Given the description of an element on the screen output the (x, y) to click on. 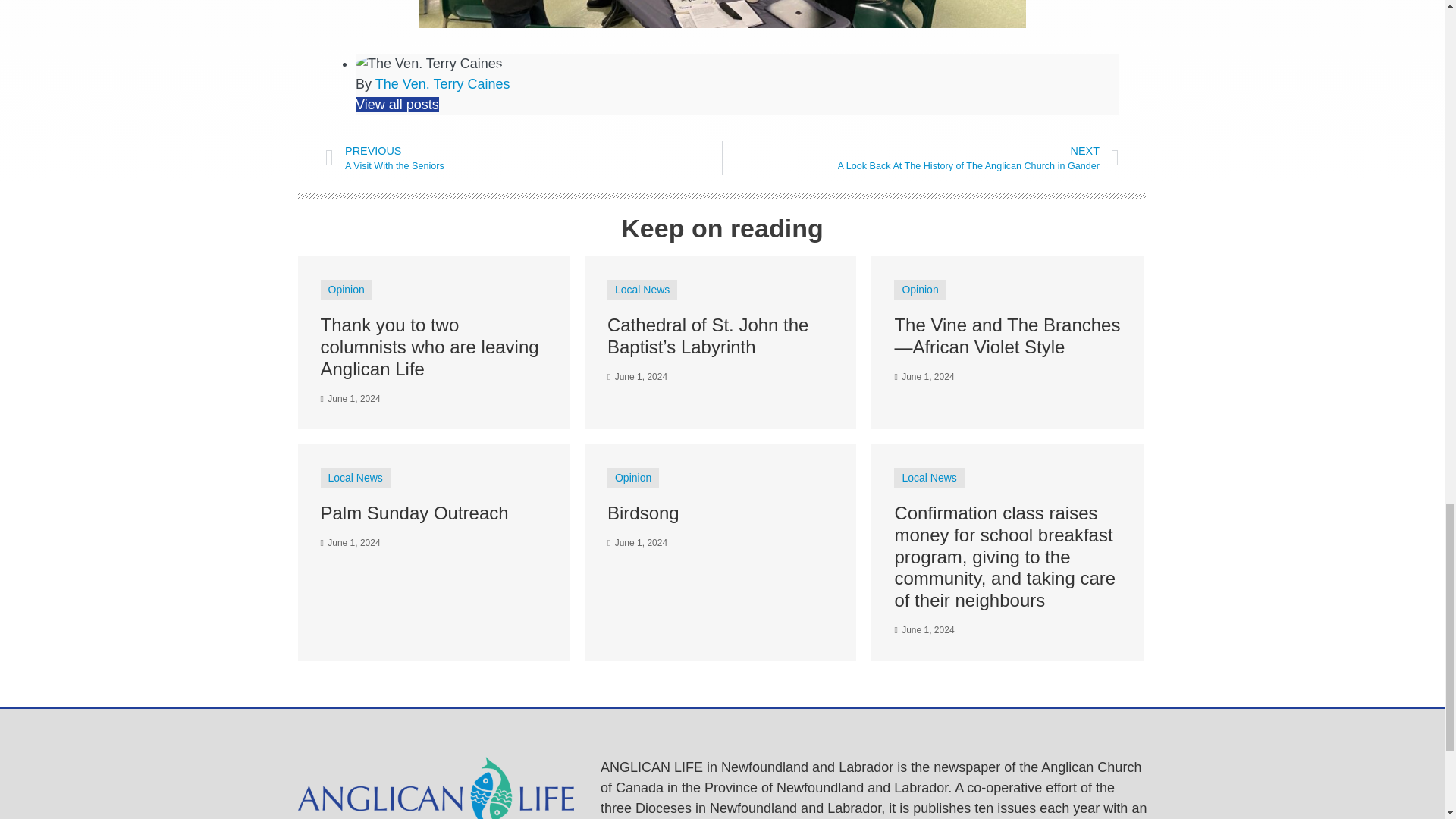
The Ven. Terry Caines (443, 83)
View all posts (397, 104)
